Given the description of an element on the screen output the (x, y) to click on. 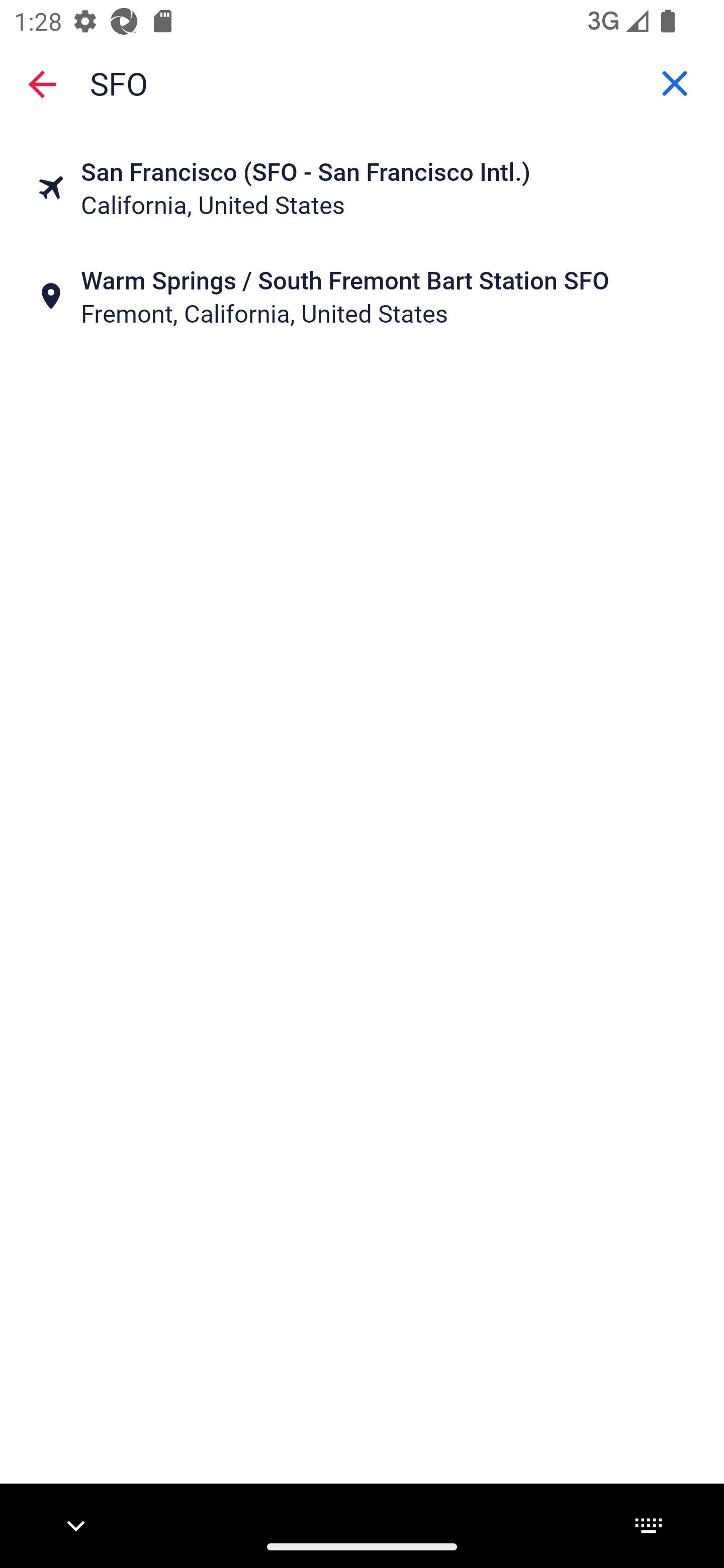
Close search screen (42, 84)
Clear Pick-up (674, 82)
Pick-up, SFO (361, 82)
